Given the description of an element on the screen output the (x, y) to click on. 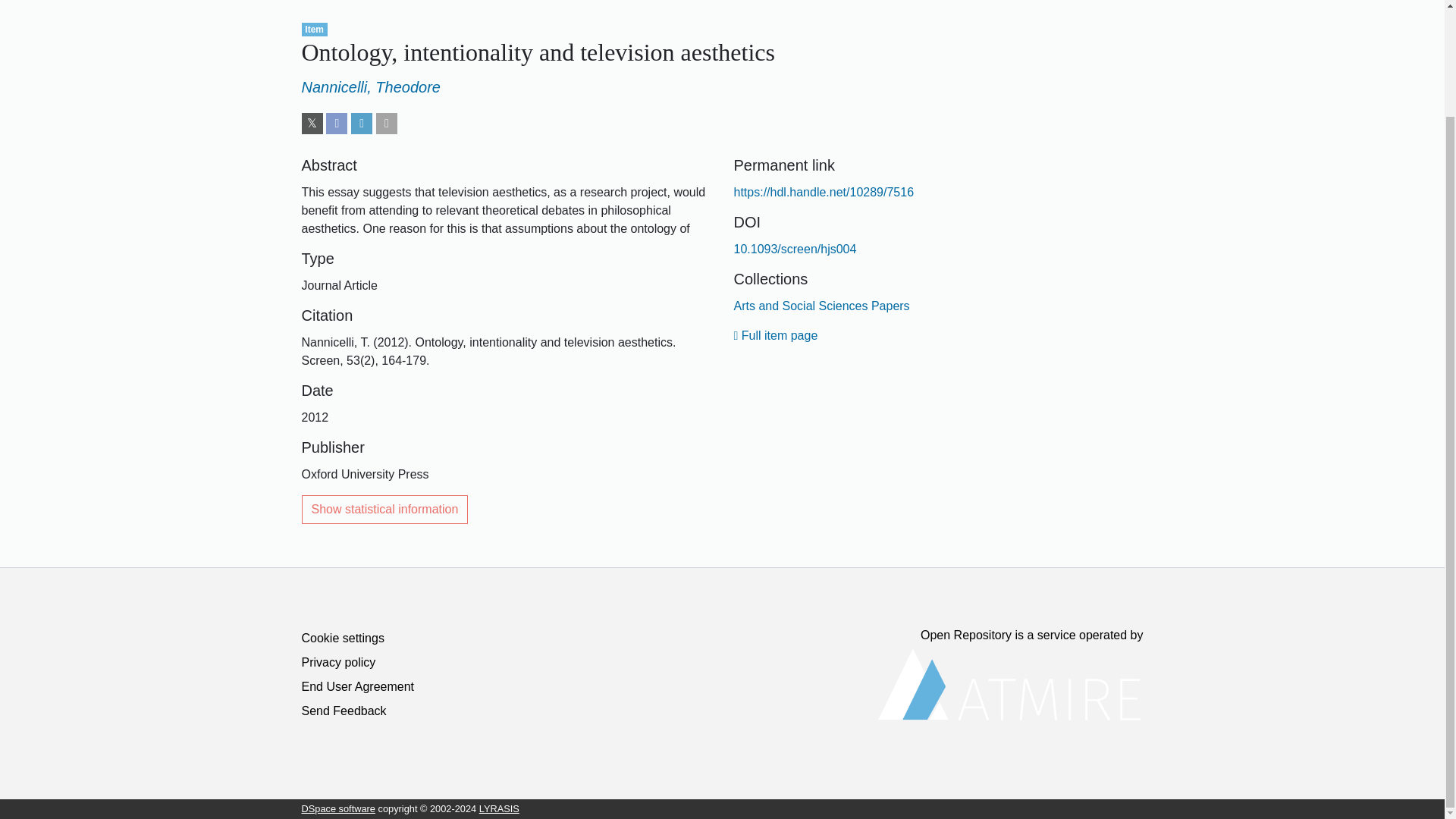
Show statistical information (384, 509)
End User Agreement (357, 686)
Arts and Social Sciences Papers (821, 305)
Full item page (775, 335)
Privacy policy (338, 662)
Send Feedback (344, 710)
Nannicelli, Theodore (371, 86)
Cookie settings (342, 637)
